Given the description of an element on the screen output the (x, y) to click on. 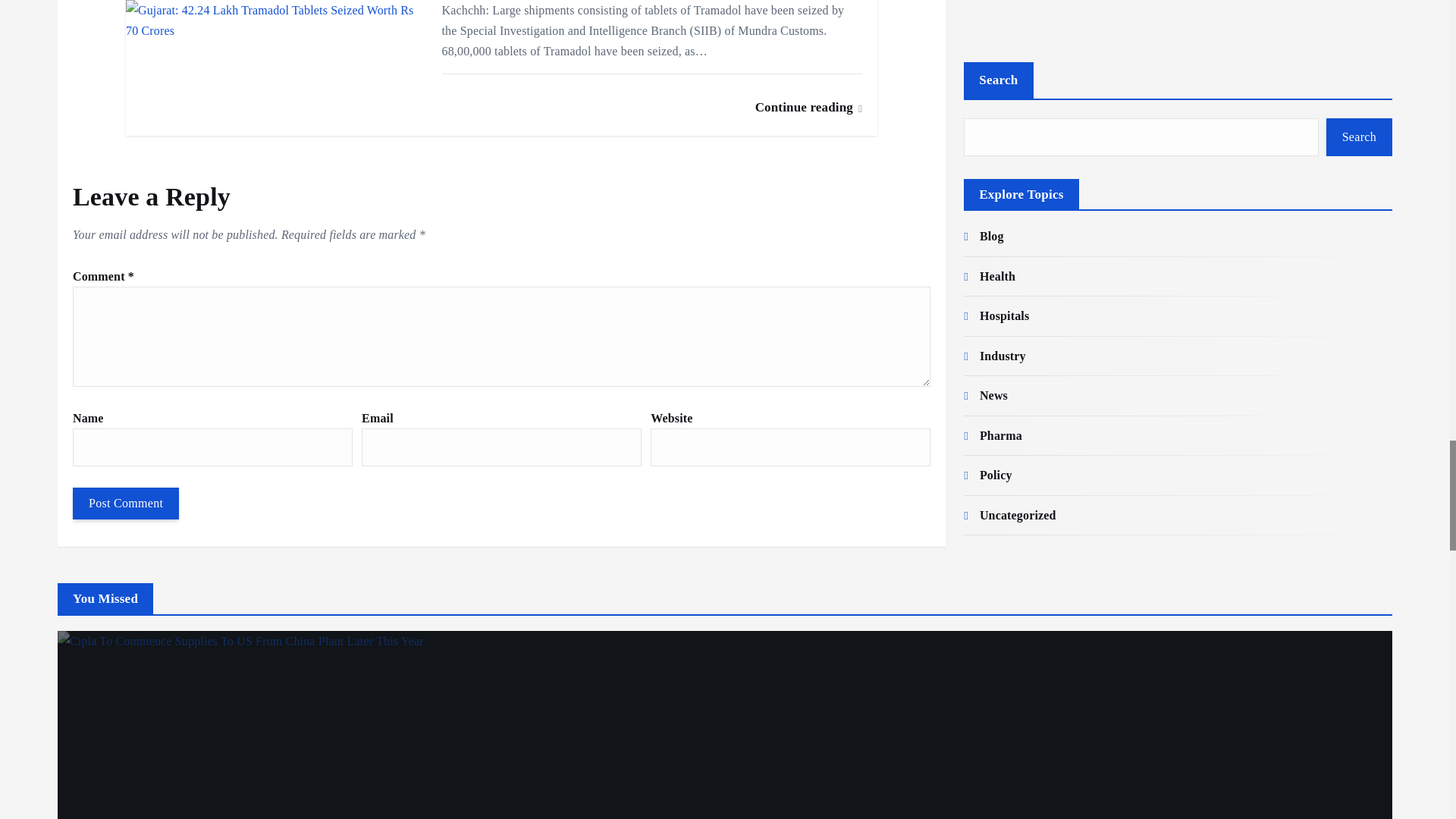
Post Comment (125, 503)
